Given the description of an element on the screen output the (x, y) to click on. 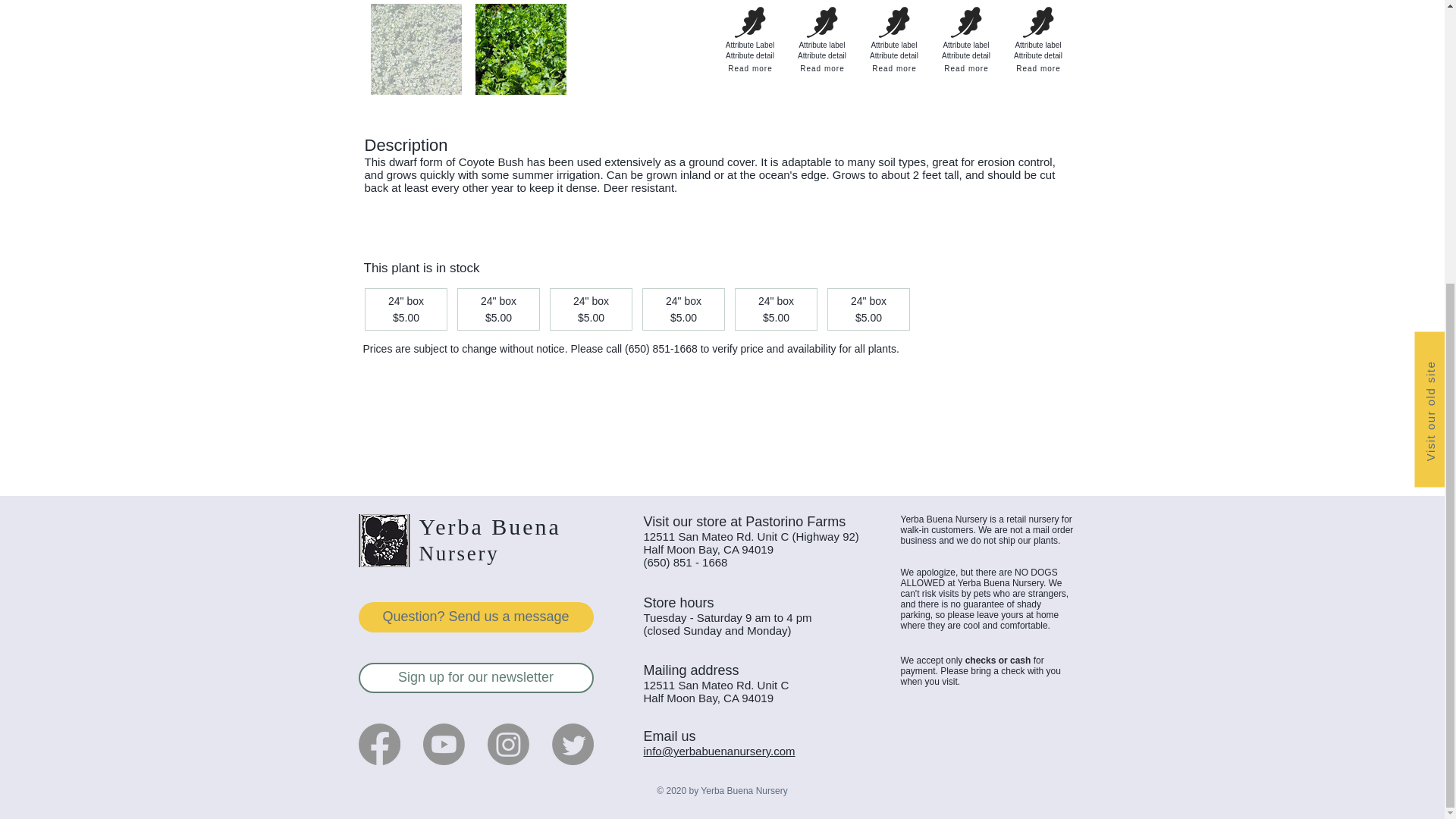
Question? Send us a message (475, 616)
Read more (1038, 68)
Read more (750, 68)
Read more (821, 68)
Read more (894, 68)
Read more (965, 68)
Sign up for our newsletter (475, 677)
